Given the description of an element on the screen output the (x, y) to click on. 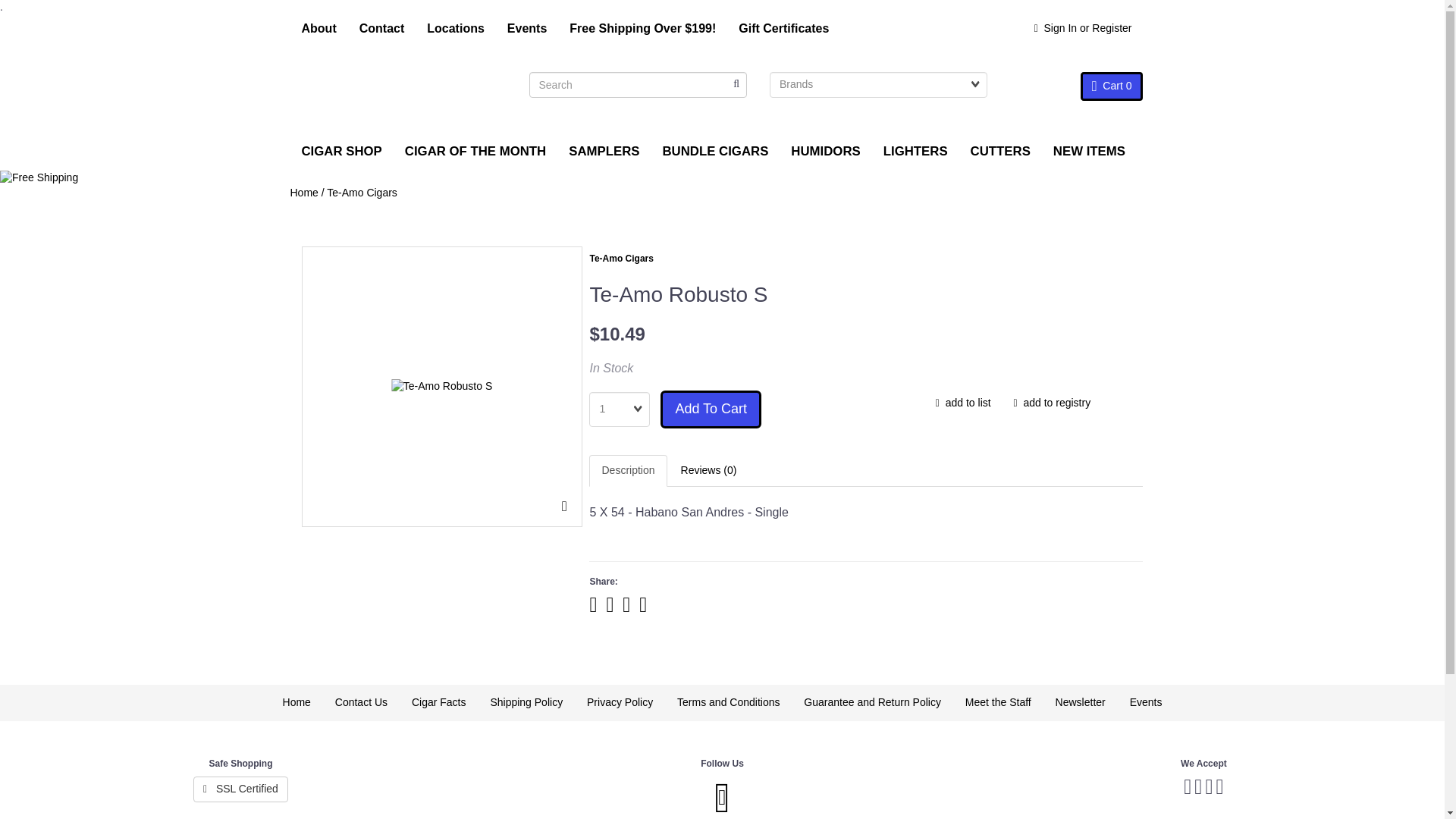
Te-Amo Cigars (620, 258)
LIGHTERS (915, 151)
Events (526, 28)
Contact (381, 28)
About (318, 28)
Locations (455, 28)
BUNDLE CIGARS (714, 151)
CUTTERS (1000, 151)
HUMIDORS (824, 151)
  Sign In or Register (1082, 28)
Gift Certificates (783, 28)
  add to list (963, 403)
Te-Amo Robusto S (442, 386)
Add To Cart (711, 409)
NEW ITEMS (1089, 151)
